Given the description of an element on the screen output the (x, y) to click on. 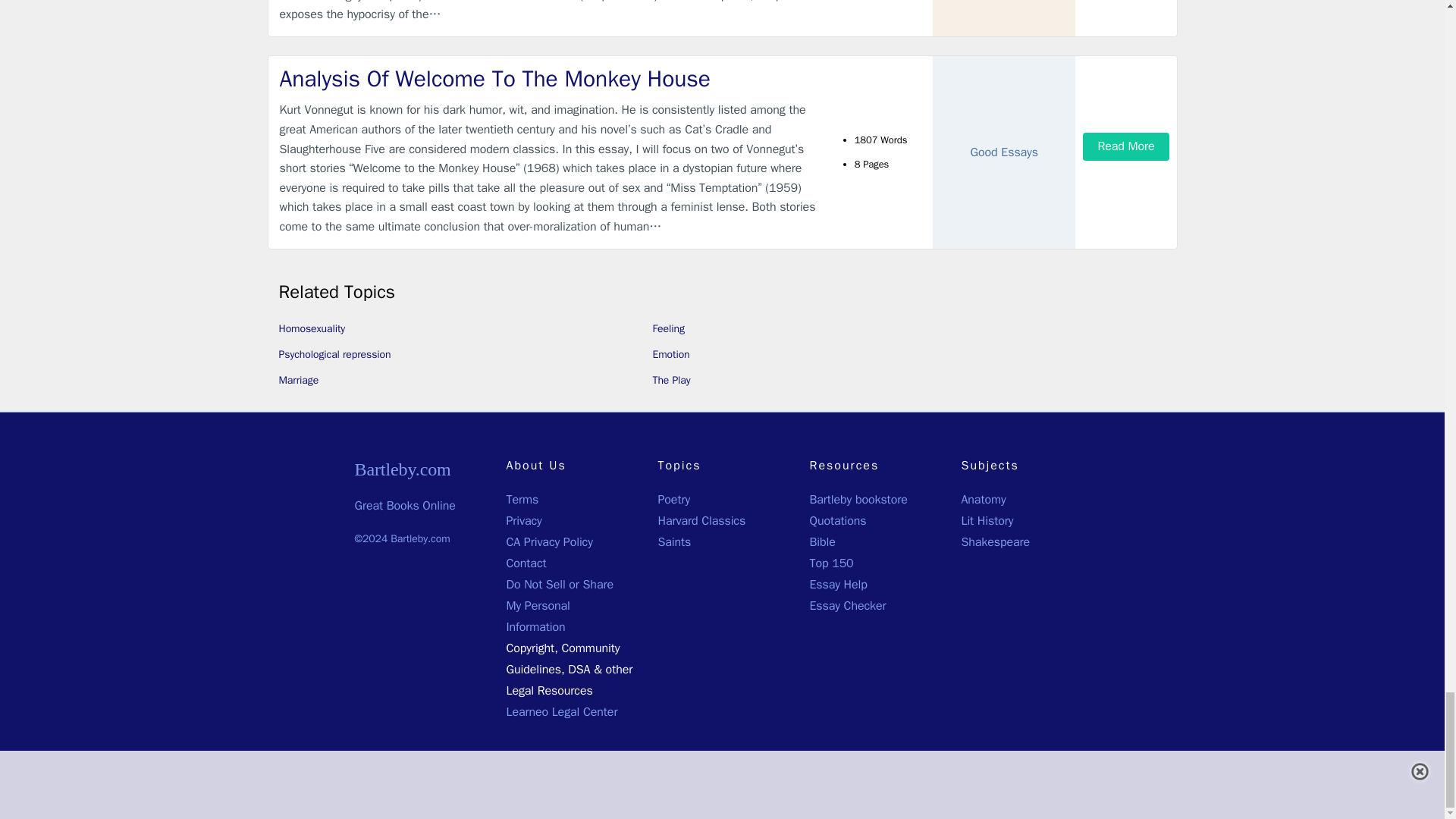
Feeling (668, 328)
Marriage (298, 379)
The Play (671, 379)
Homosexuality (312, 328)
Emotion (670, 354)
Psychological repression (335, 354)
